Given the description of an element on the screen output the (x, y) to click on. 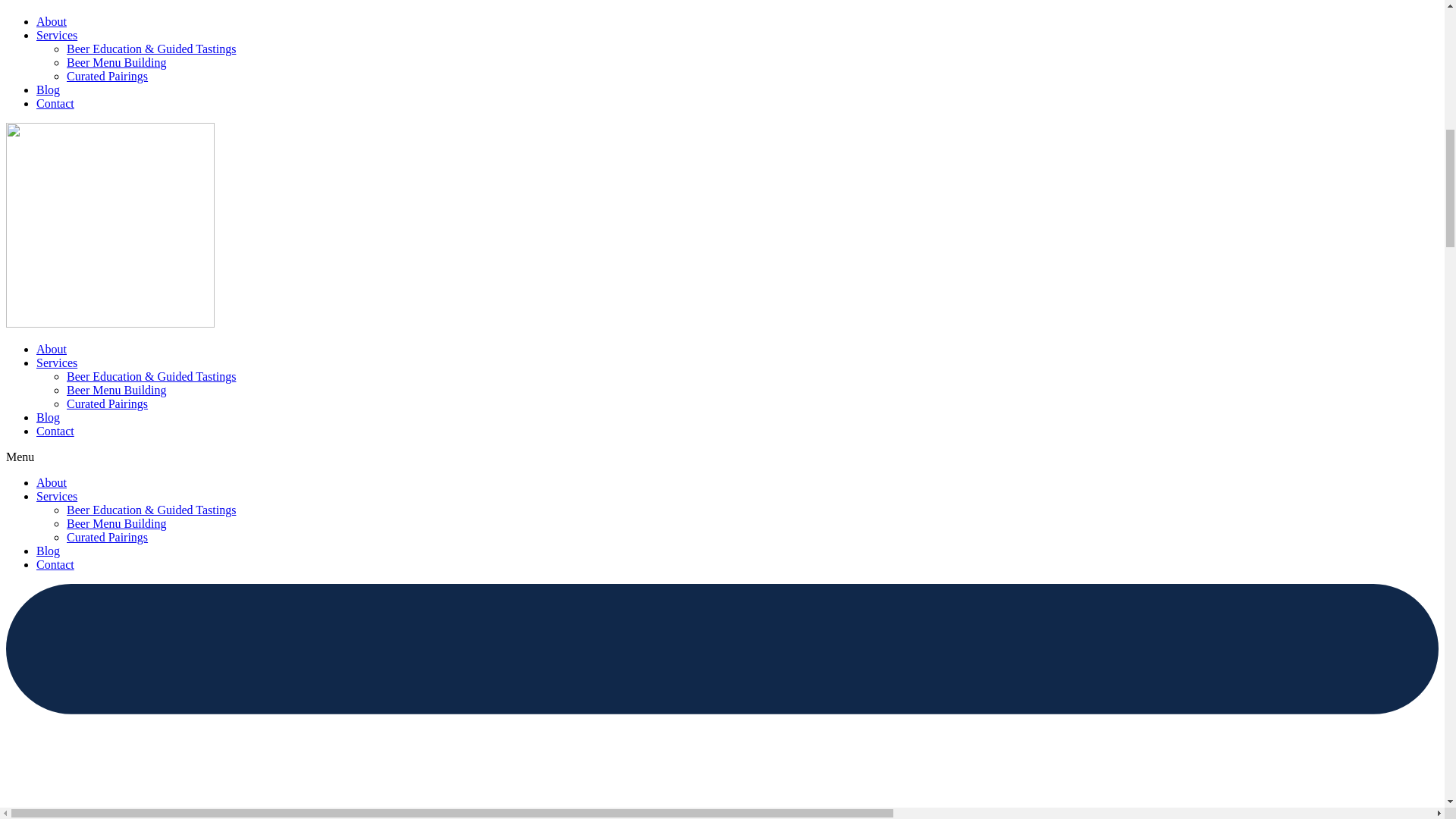
Contact (55, 103)
Blog (47, 89)
Blog (47, 417)
Contact (55, 431)
Services (56, 34)
About (51, 481)
Curated Pairings (107, 403)
Services (56, 362)
Curated Pairings (107, 75)
Beer Menu Building (116, 62)
About (51, 21)
About (51, 349)
Beer Menu Building (116, 390)
